Given the description of an element on the screen output the (x, y) to click on. 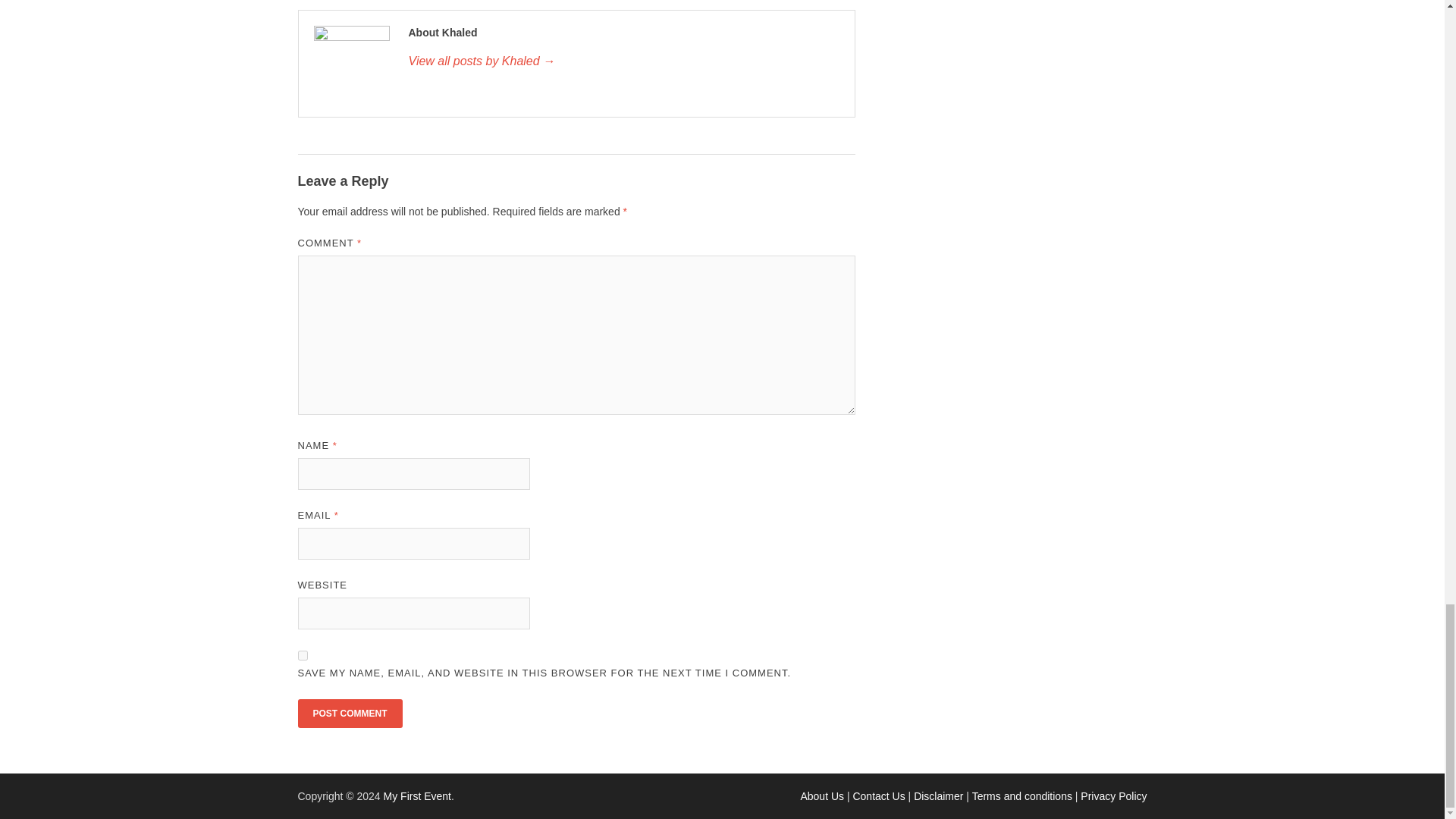
Khaled (622, 61)
Post Comment (349, 713)
My First Event (417, 796)
yes (302, 655)
